Given the description of an element on the screen output the (x, y) to click on. 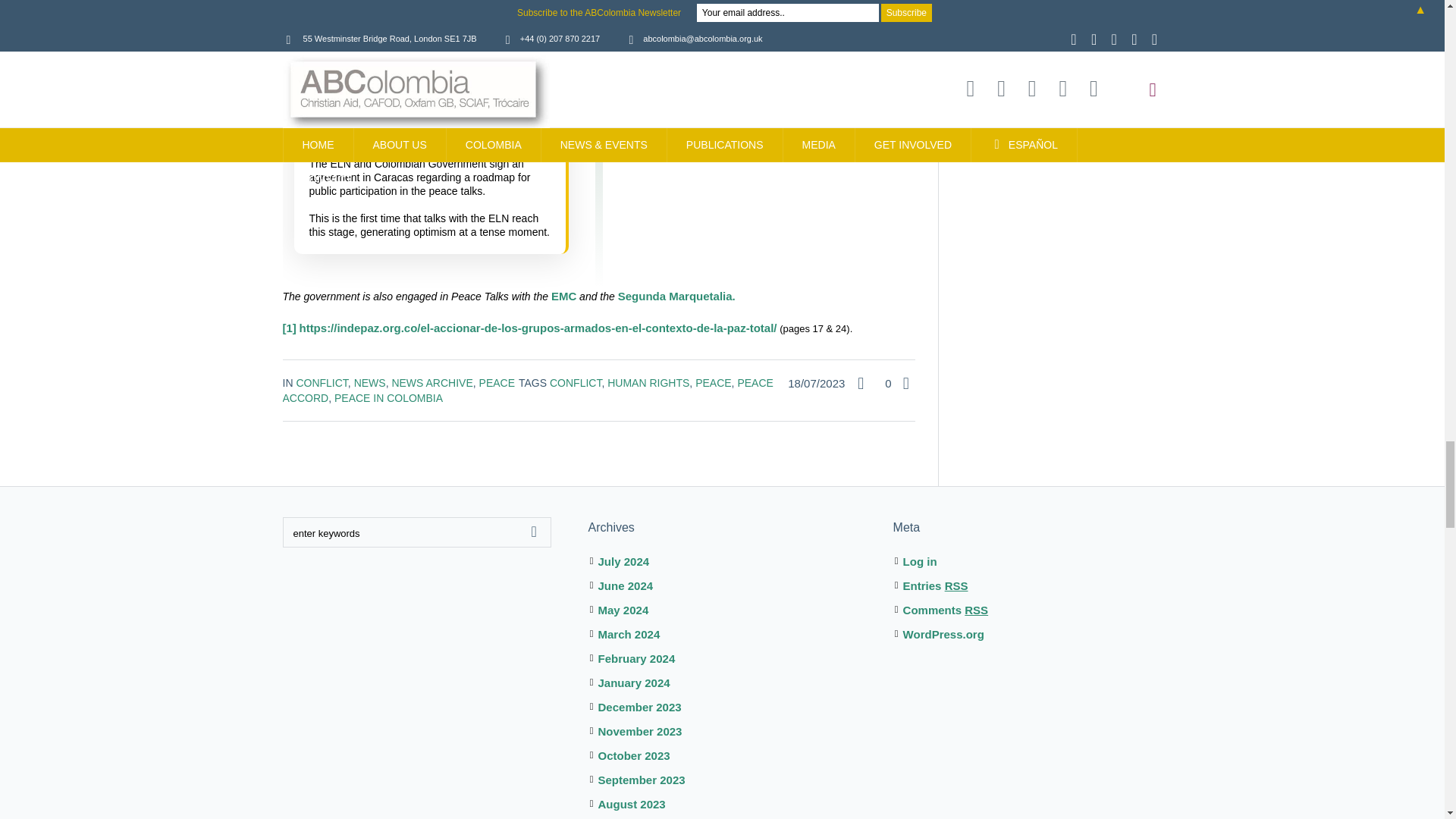
Syndicate this site using RSS 2.0 (935, 585)
